Given the description of an element on the screen output the (x, y) to click on. 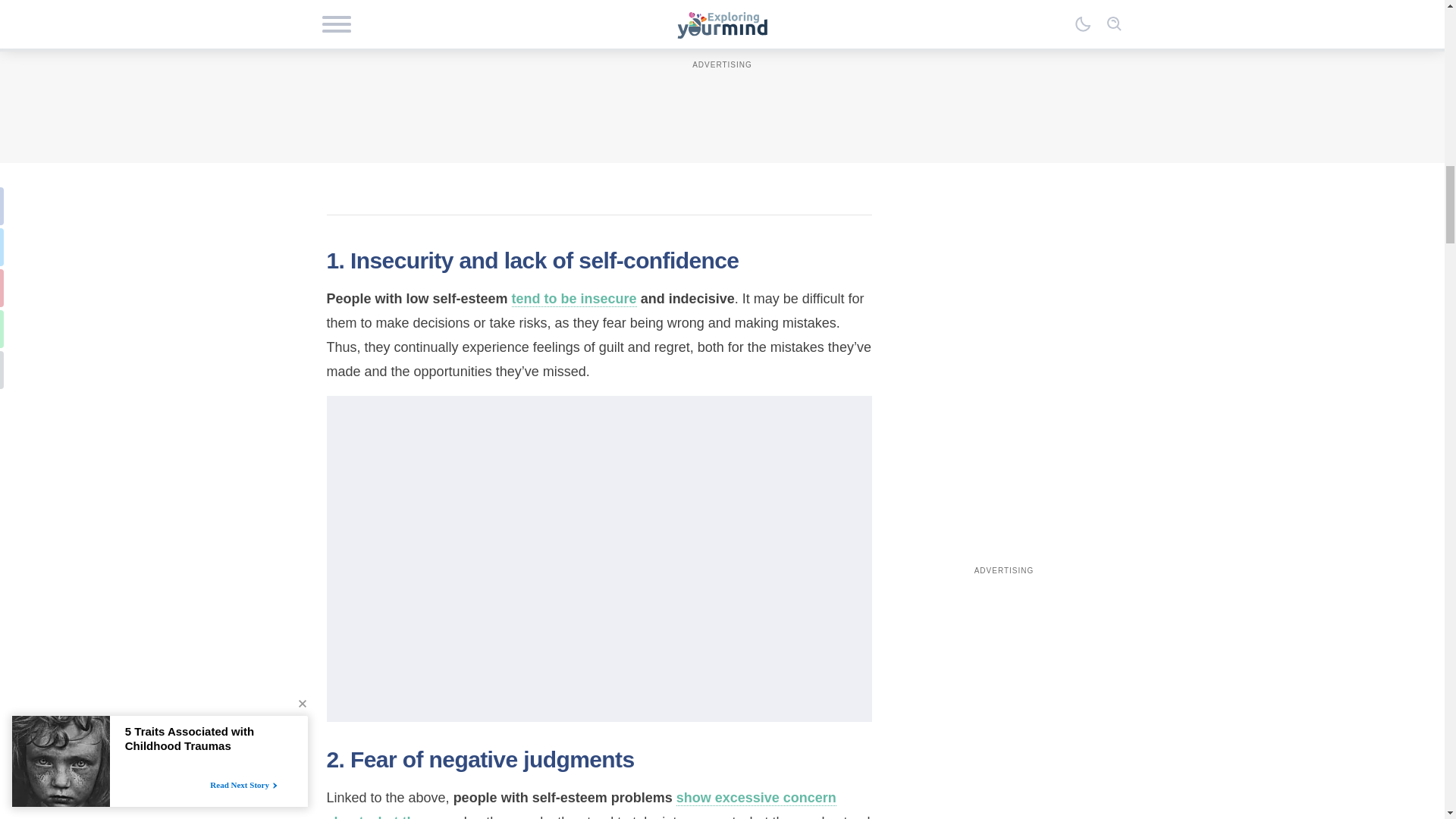
tend to be insecure (574, 299)
show excessive concern about what they say (580, 804)
